Given the description of an element on the screen output the (x, y) to click on. 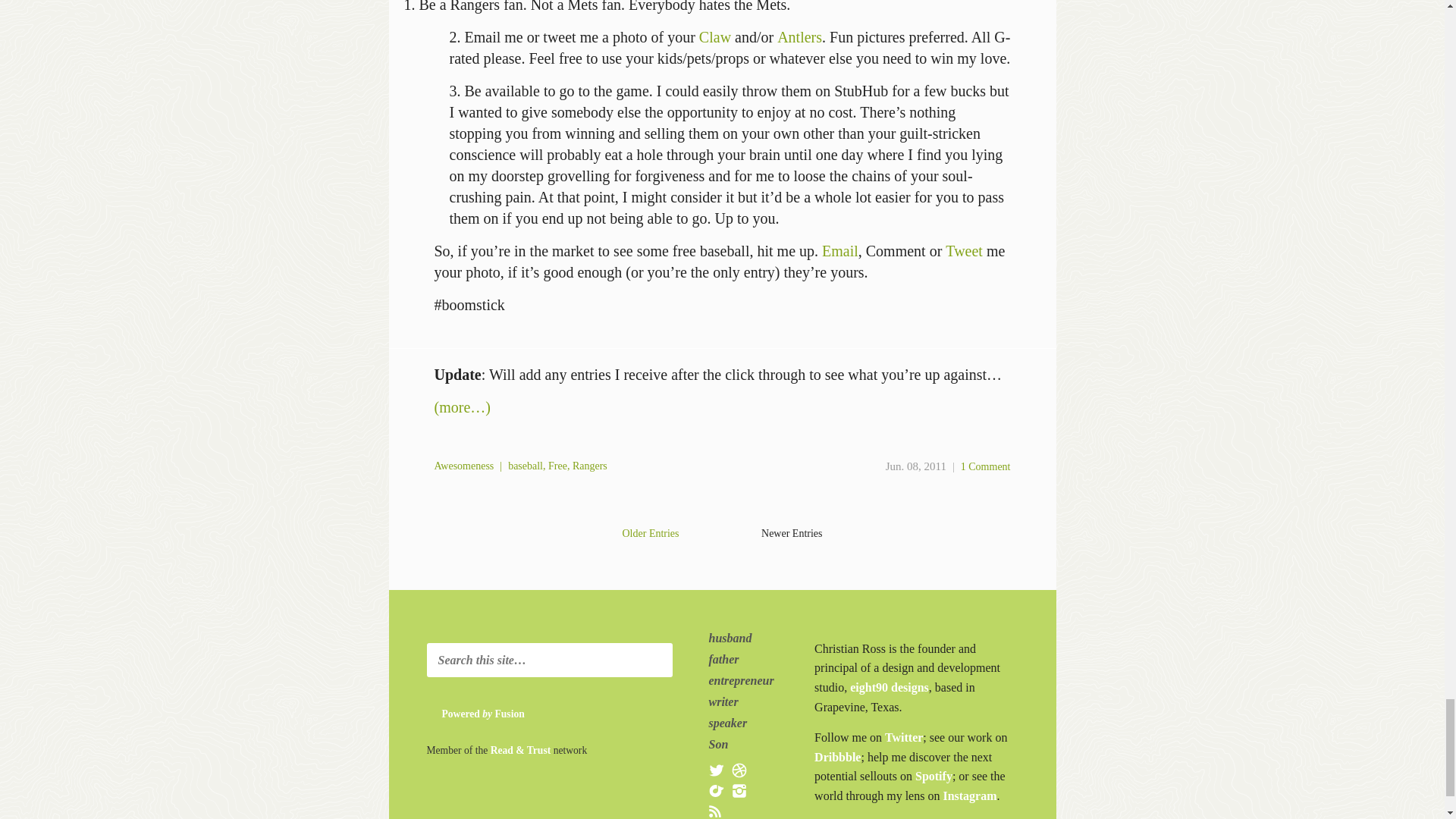
Powered by Fusion Ads (505, 713)
